Given the description of an element on the screen output the (x, y) to click on. 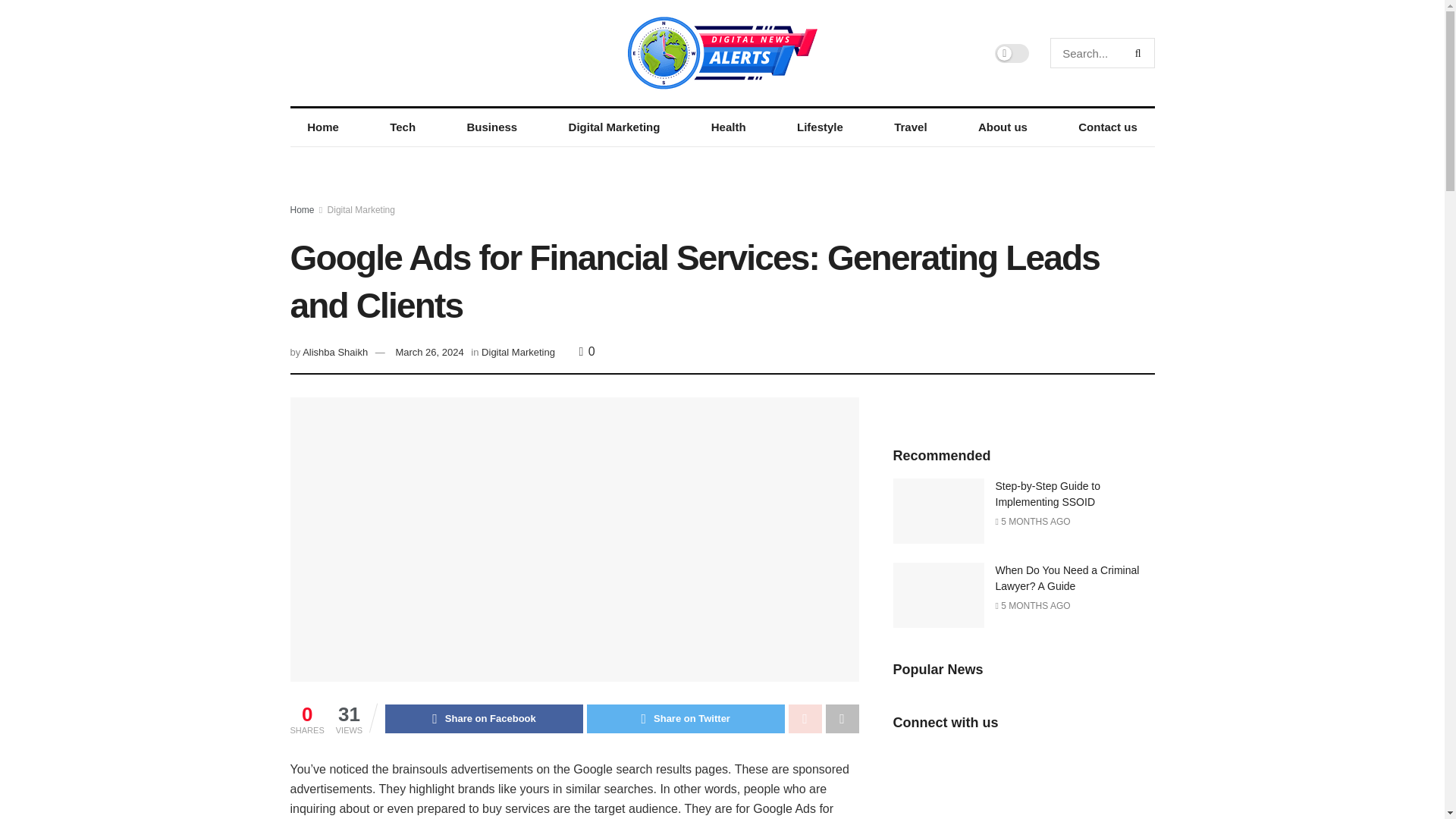
Business (491, 127)
Tech (402, 127)
Home (301, 209)
Share on Twitter (685, 718)
March 26, 2024 (428, 351)
Health (728, 127)
0 (587, 350)
Digital Marketing (517, 351)
Contact us (1107, 127)
Home (322, 127)
